Given the description of an element on the screen output the (x, y) to click on. 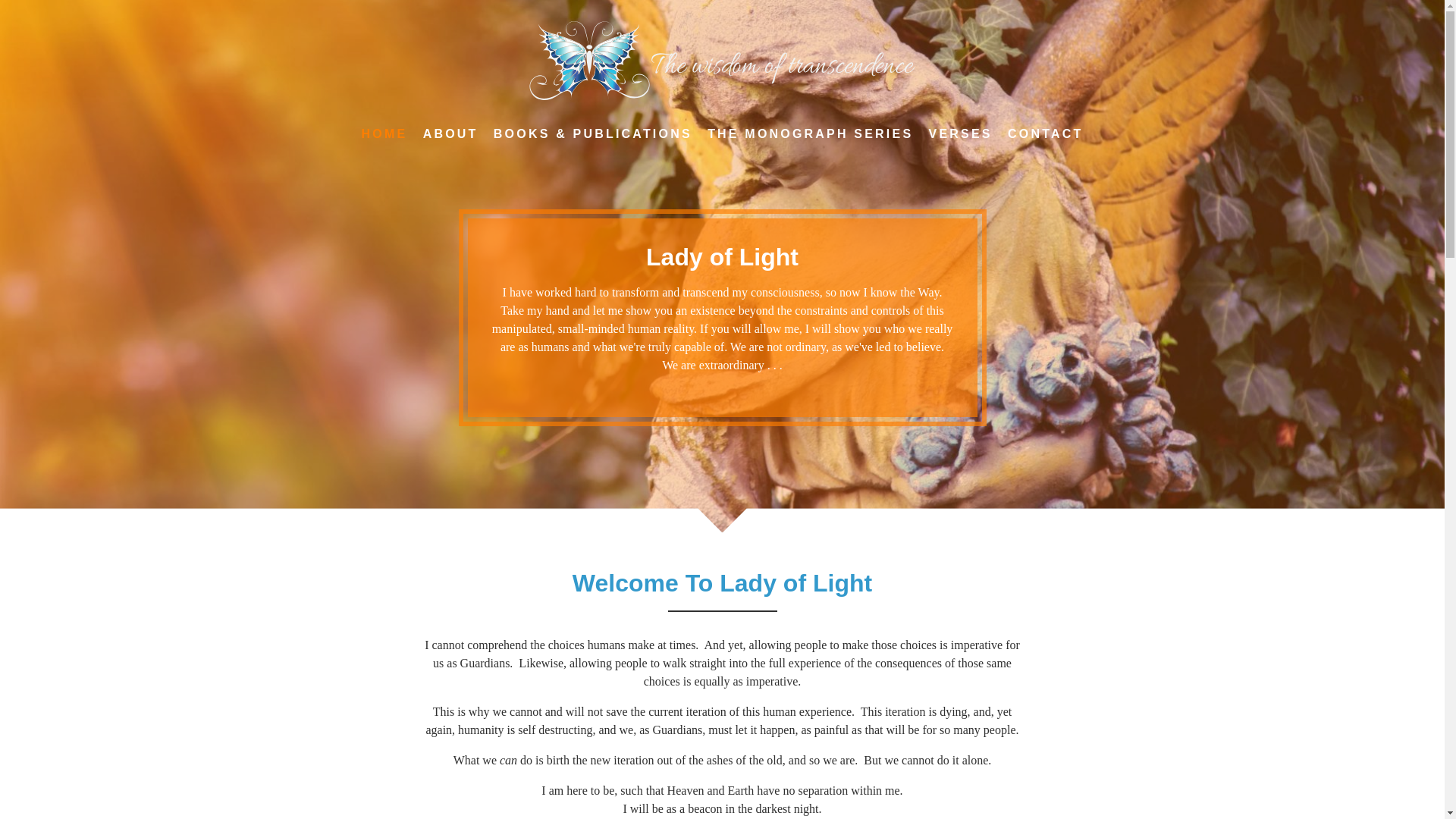
HOME (384, 134)
THE MONOGRAPH SERIES (809, 134)
VERSES (960, 134)
CONTACT (1045, 134)
ABOUT (450, 134)
